Given the description of an element on the screen output the (x, y) to click on. 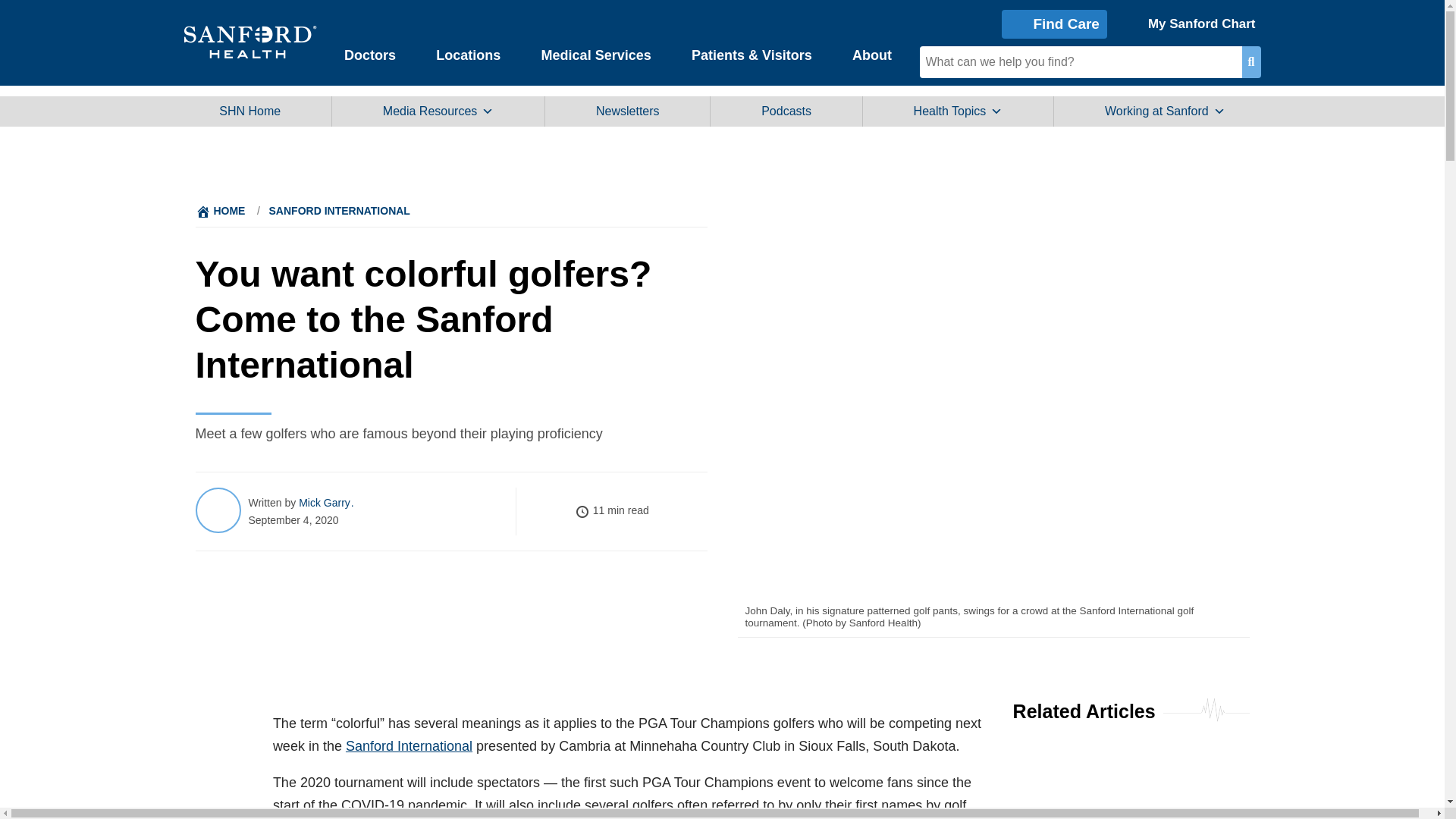
Doctors (370, 54)
Find Care (1053, 23)
SHN Home (249, 111)
Media Resources (437, 111)
Health Topics (957, 111)
Medical Services (596, 54)
Working at Sanford (1164, 111)
Locations (468, 54)
Podcasts (785, 111)
About (871, 54)
